Given the description of an element on the screen output the (x, y) to click on. 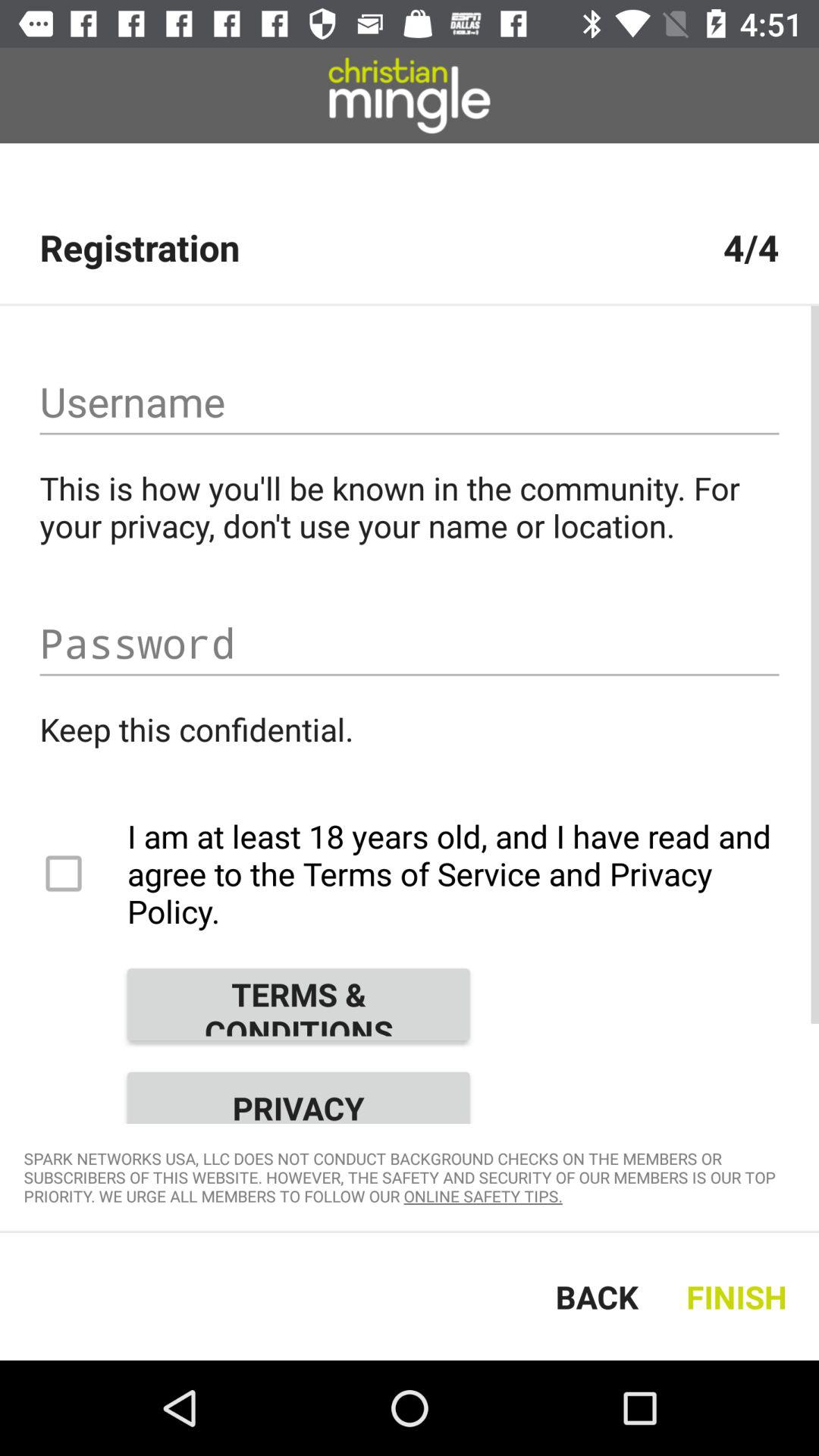
choose the icon to the right of back (740, 1296)
